Given the description of an element on the screen output the (x, y) to click on. 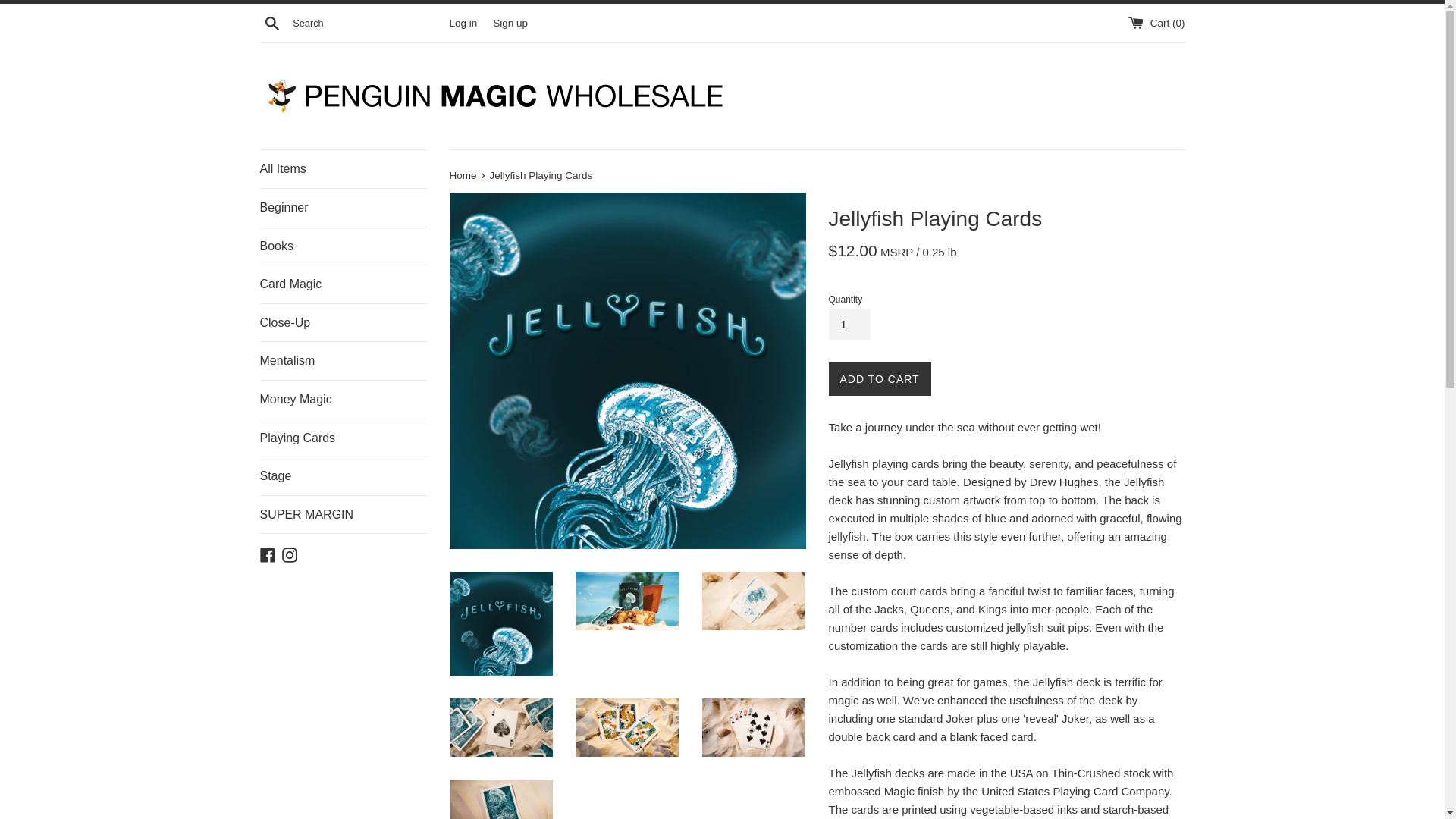
Penguin Magic Wholesale on Facebook (267, 553)
Books (342, 246)
Home (463, 174)
ADD TO CART (879, 379)
Facebook (267, 553)
Instagram (289, 553)
Playing Cards (342, 438)
Penguin Magic Wholesale on Instagram (289, 553)
Close-Up (342, 322)
Money Magic (342, 399)
Search (271, 21)
Card Magic (342, 284)
Mentalism (342, 361)
1 (848, 324)
Back to the frontpage (463, 174)
